Given the description of an element on the screen output the (x, y) to click on. 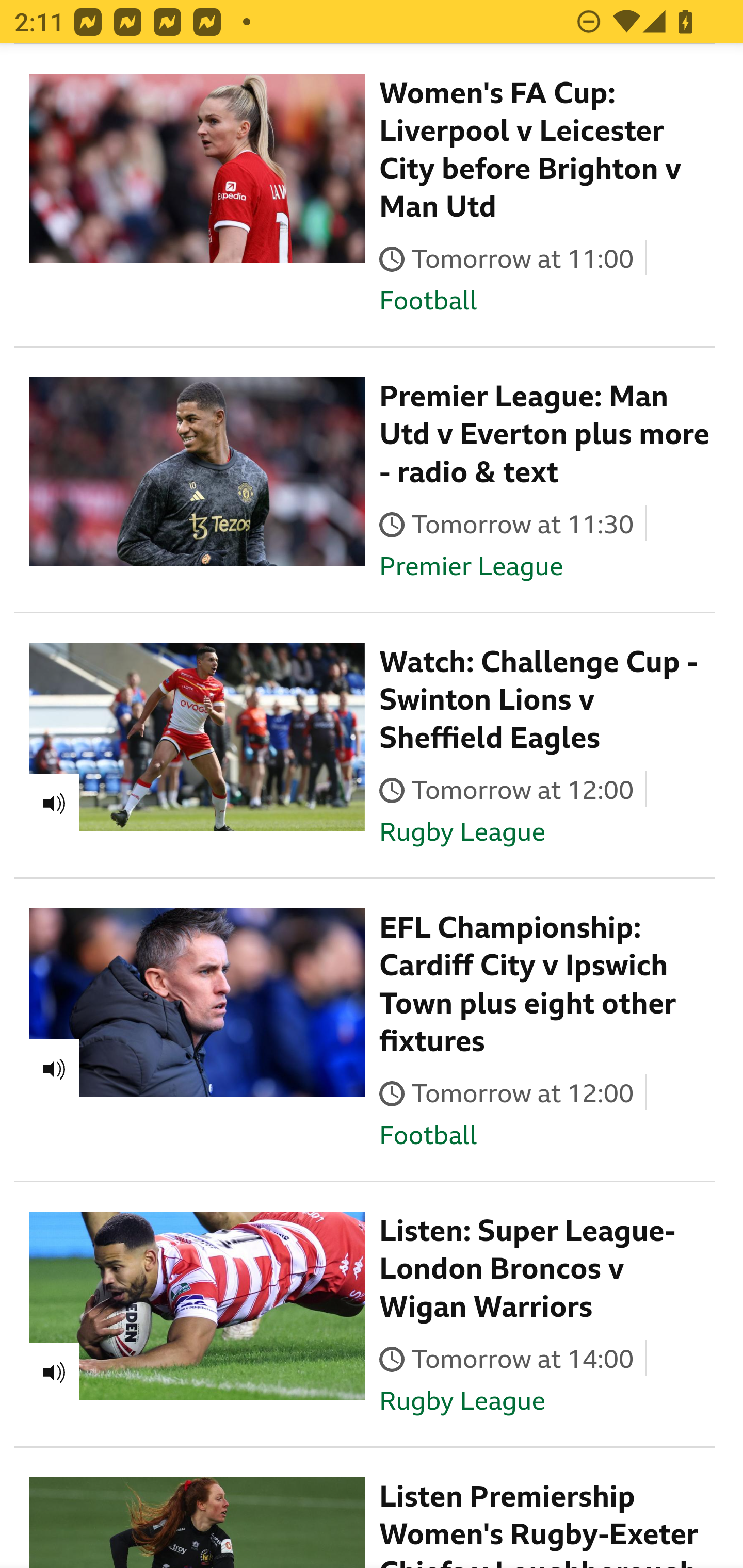
Football (428, 301)
Premier League (470, 567)
Rugby League (462, 832)
Football (428, 1137)
Rugby League (462, 1402)
